Given the description of an element on the screen output the (x, y) to click on. 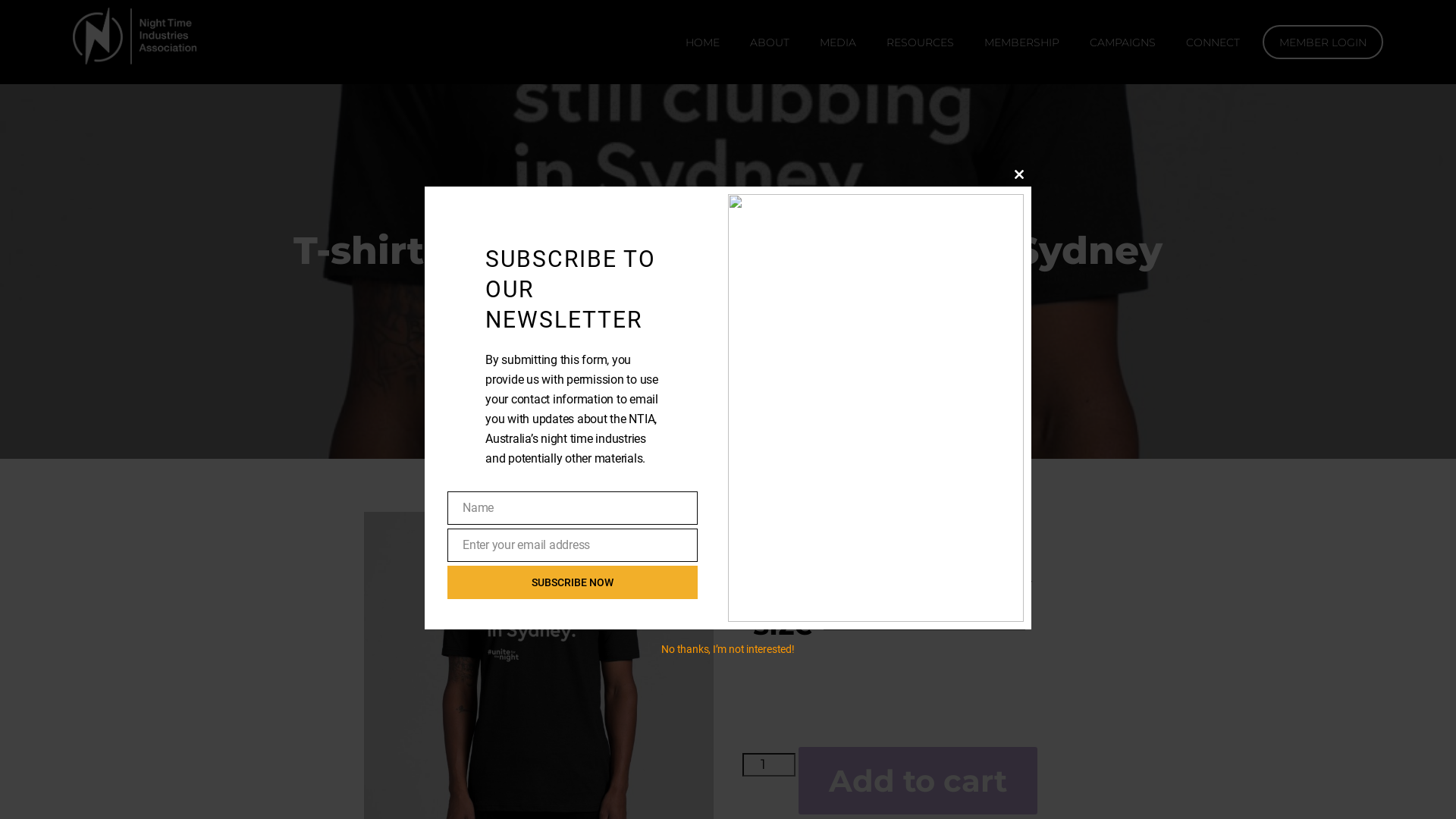
RESOURCES Element type: text (919, 42)
MEMBERSHIP Element type: text (1021, 42)
CAMPAIGNS Element type: text (1122, 42)
SUBSCRIBE NOW Element type: text (572, 582)
ABOUT Element type: text (769, 42)
CONNECT Element type: text (1212, 42)
HOME Element type: text (702, 42)
MEDIA Element type: text (837, 42)
MEMBER LOGIN Element type: text (1322, 42)
AS Colour Paper tee Element type: text (947, 562)
Add to cart Element type: text (917, 780)
Close this module Element type: text (1019, 174)
